Given the description of an element on the screen output the (x, y) to click on. 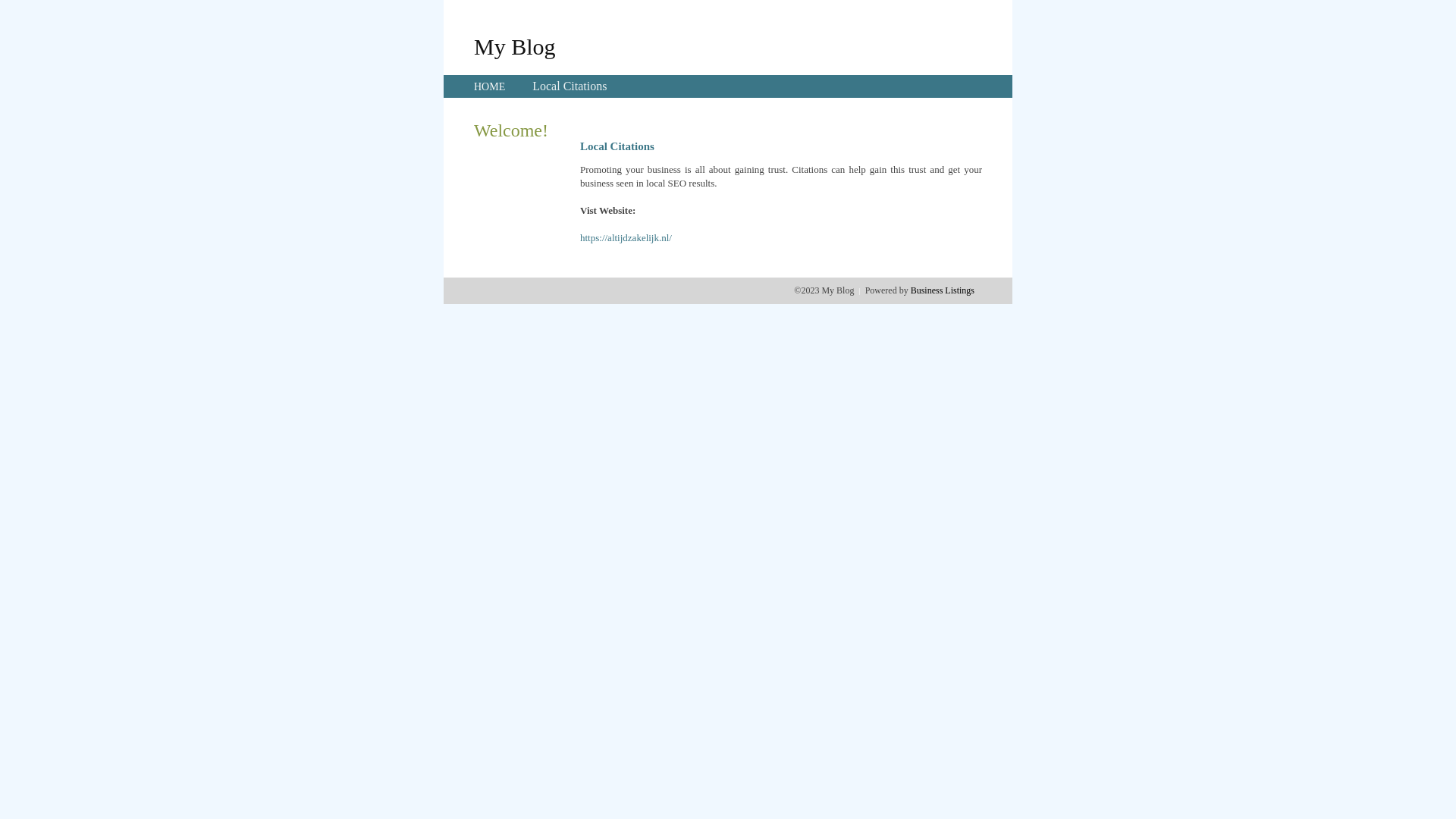
HOME Element type: text (489, 86)
My Blog Element type: text (514, 46)
Business Listings Element type: text (942, 290)
https://altijdzakelijk.nl/ Element type: text (625, 237)
Local Citations Element type: text (569, 85)
